Given the description of an element on the screen output the (x, y) to click on. 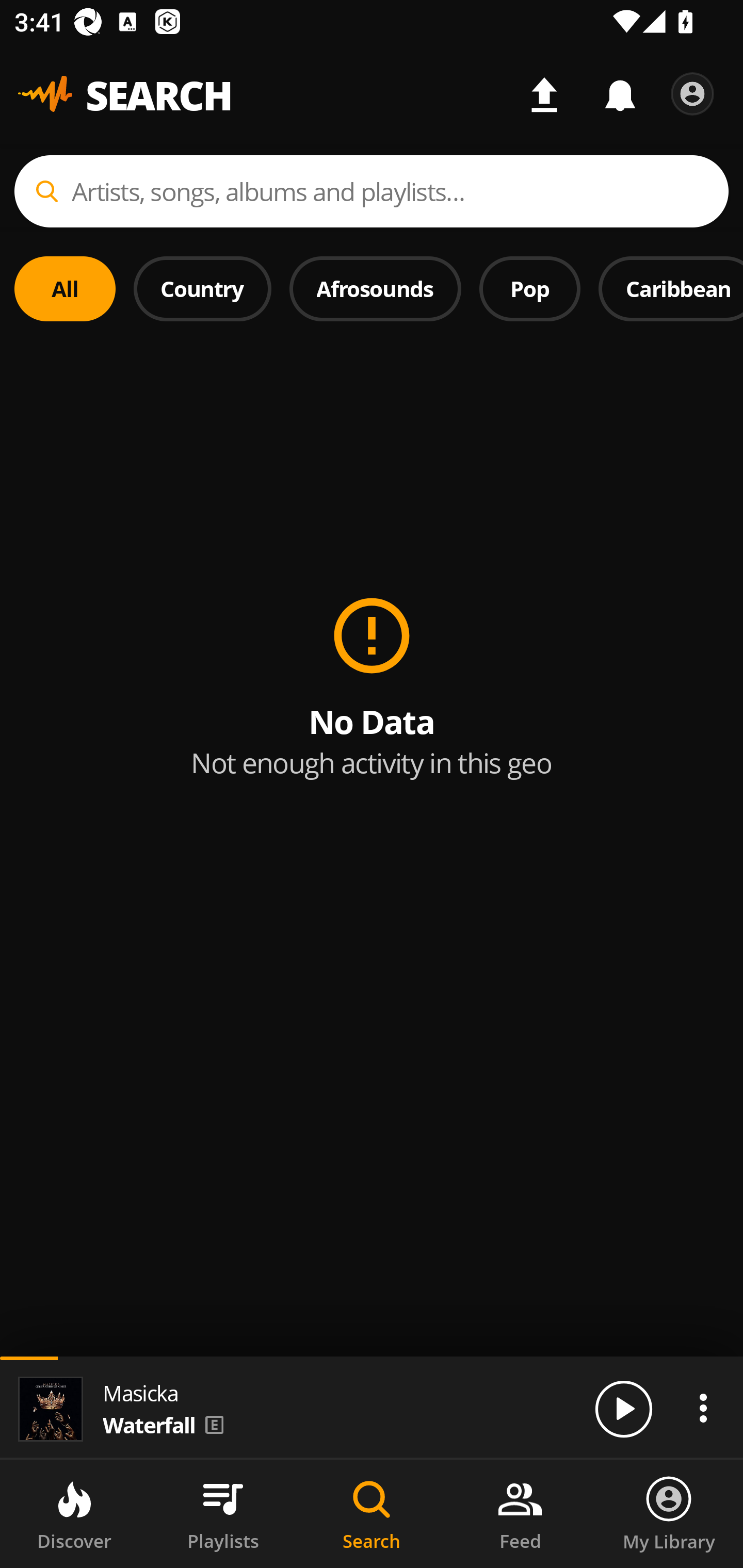
Settings (692, 94)
Artists, songs, albums and playlists… (371, 191)
All (64, 288)
Country (202, 288)
Afrosounds (375, 288)
Pop (529, 288)
Caribbean (670, 288)
Actions (703, 1407)
Play/Pause (623, 1408)
Playlists (222, 1513)
Search (371, 1513)
Feed (519, 1513)
My Library (668, 1513)
